Given the description of an element on the screen output the (x, y) to click on. 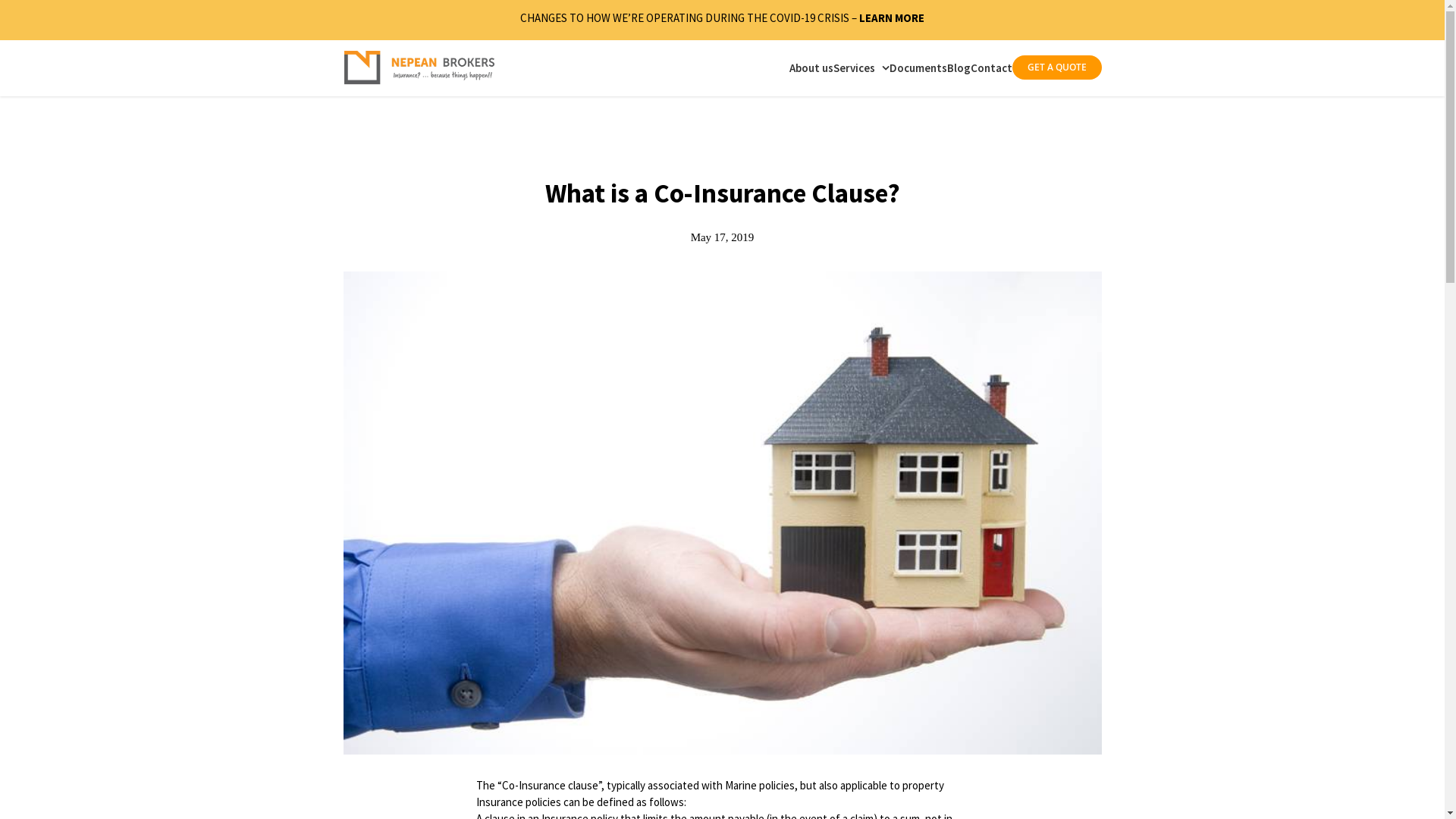
Documents Element type: text (917, 67)
Services Element type: text (860, 67)
Contact Element type: text (991, 67)
GET A QUOTE Element type: text (1056, 67)
About us Element type: text (810, 67)
Blog Element type: text (957, 67)
View Larger Image Element type: text (721, 512)
